Given the description of an element on the screen output the (x, y) to click on. 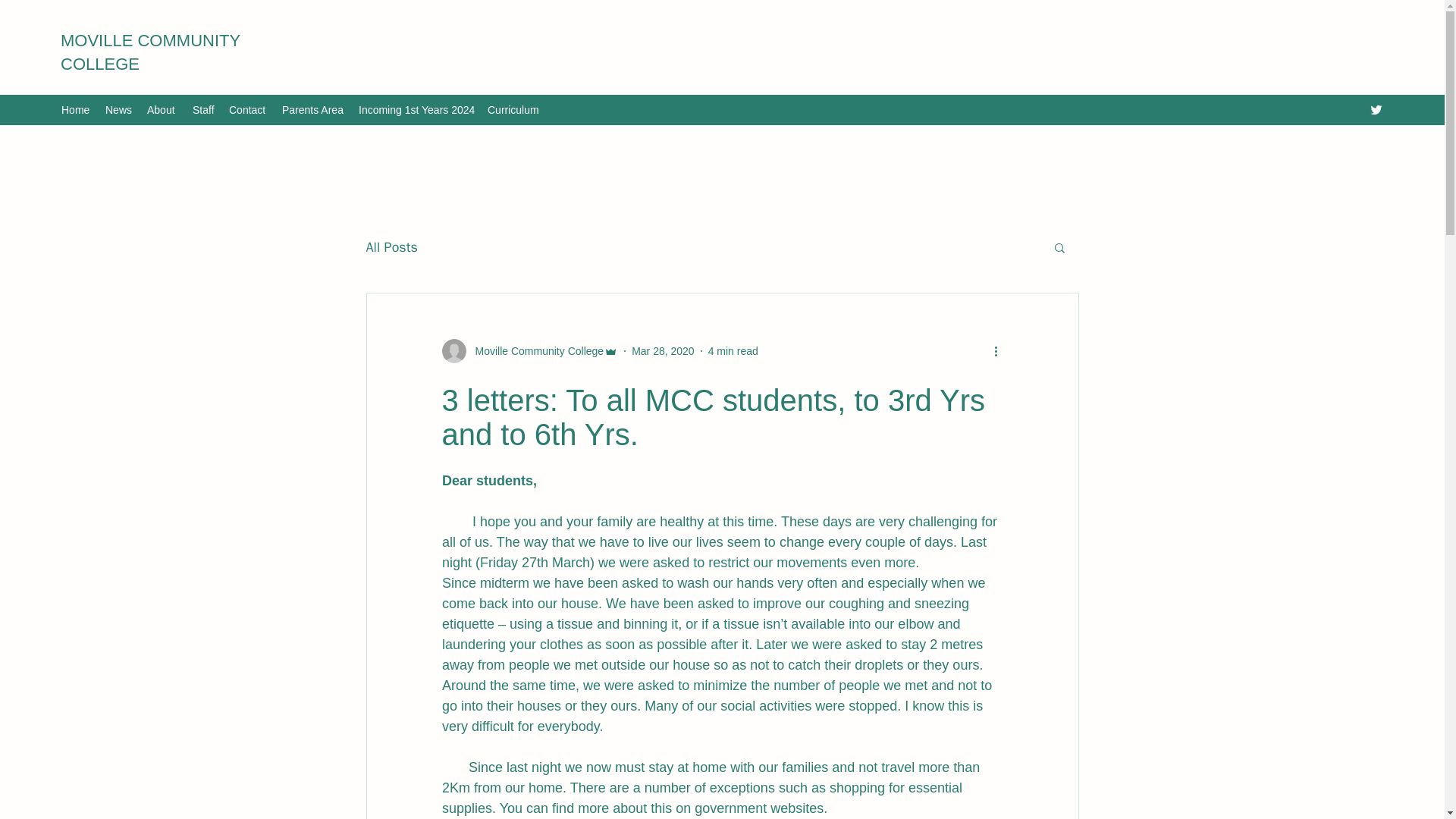
Staff (202, 109)
Parents Area (312, 109)
Moville Community College (534, 351)
About (161, 109)
4 min read (732, 350)
News (118, 109)
Home (75, 109)
Contact (248, 109)
MOVILLE COMMUNITY COLLEGE (150, 52)
Mar 28, 2020 (662, 350)
All Posts (390, 247)
